Given the description of an element on the screen output the (x, y) to click on. 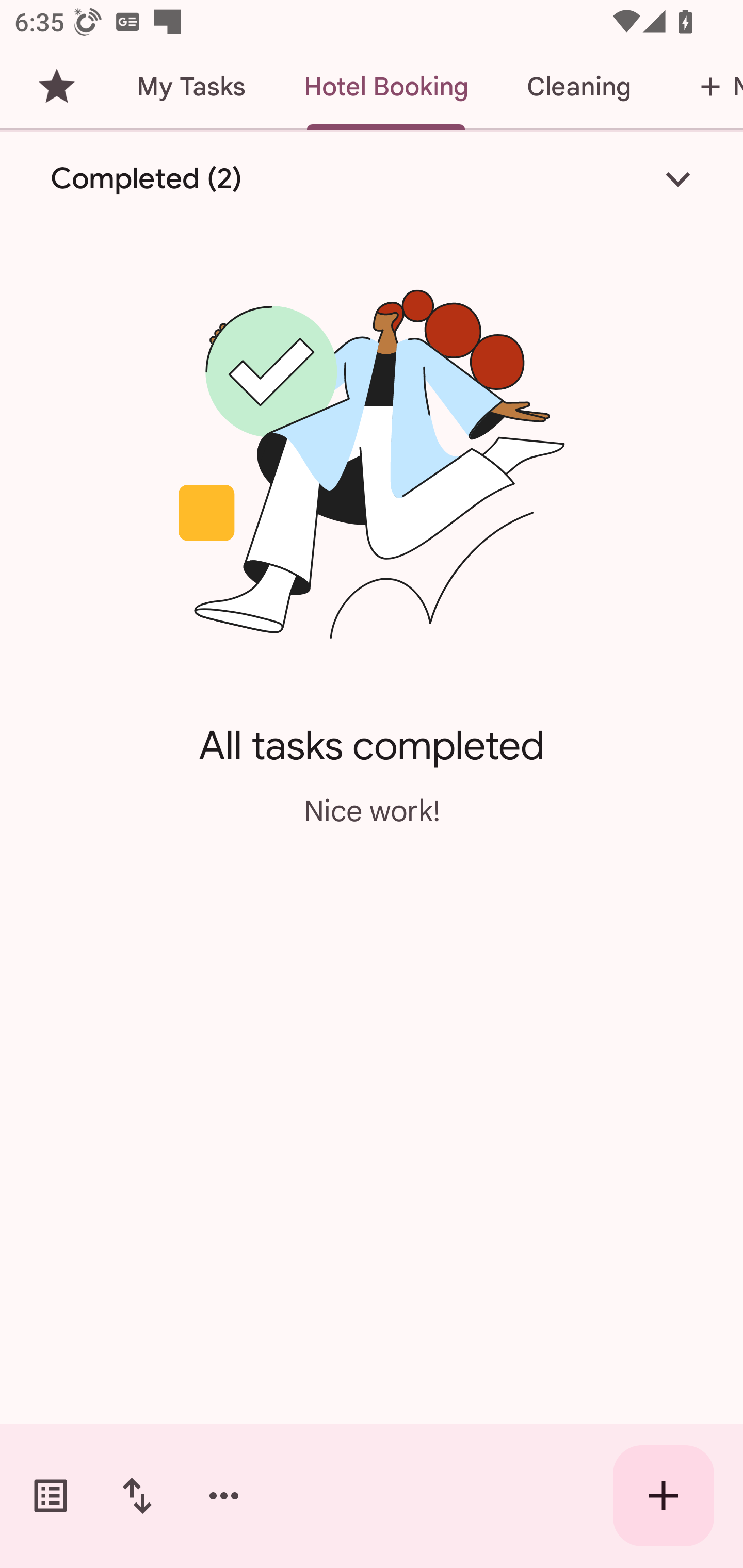
Starred (55, 86)
My Tasks (190, 86)
Cleaning (578, 86)
Completed (2) (371, 178)
Switch task lists (50, 1495)
Create new task (663, 1495)
Change sort order (136, 1495)
More options (223, 1495)
